Given the description of an element on the screen output the (x, y) to click on. 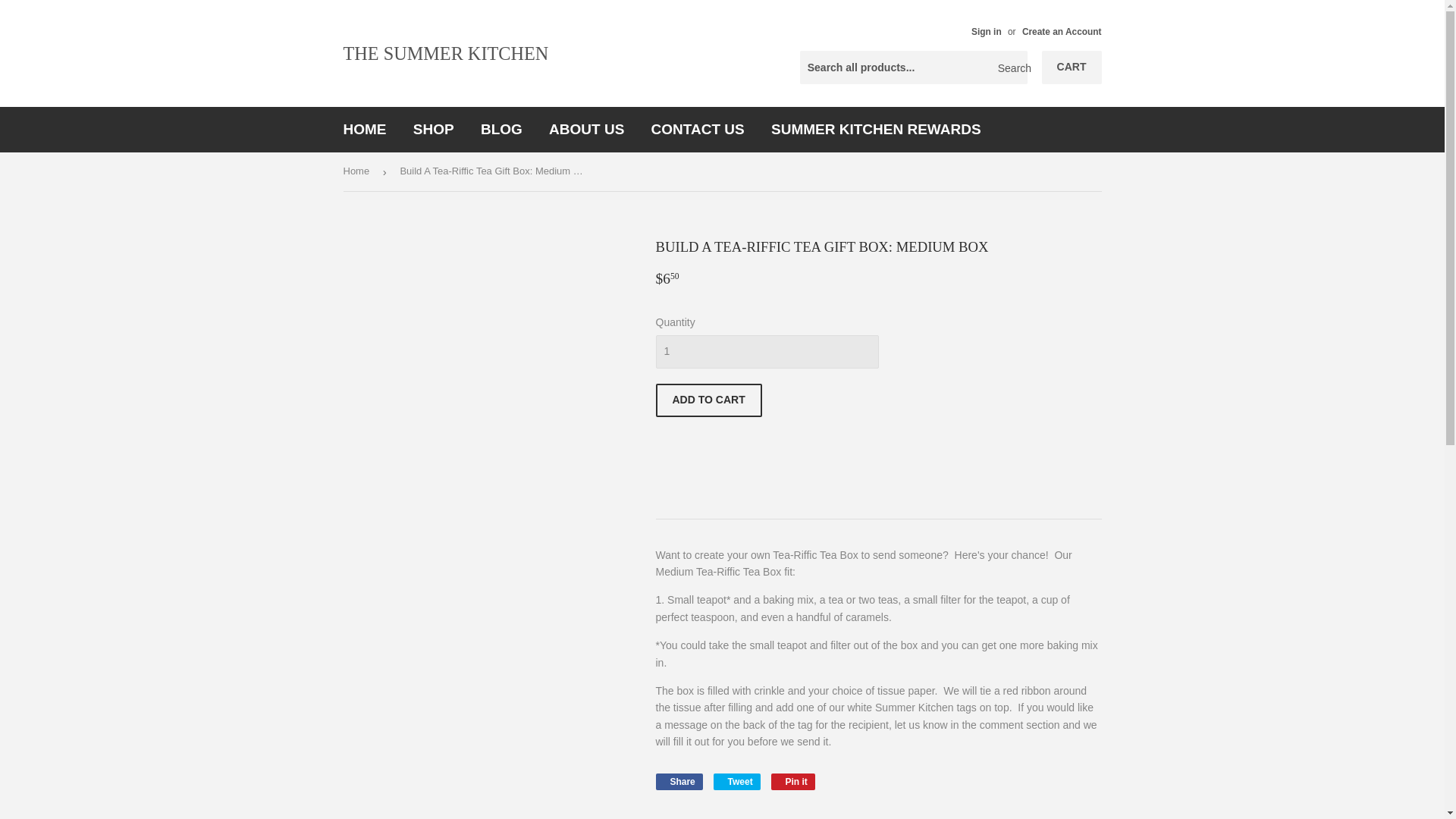
Tweet on Twitter (736, 781)
Sign in (986, 31)
THE SUMMER KITCHEN (532, 53)
CART (1072, 67)
Pin on Pinterest (793, 781)
HOME (364, 129)
SHOP (433, 129)
Search (1009, 68)
Create an Account (1062, 31)
Share on Facebook (678, 781)
1 (766, 351)
